Given the description of an element on the screen output the (x, y) to click on. 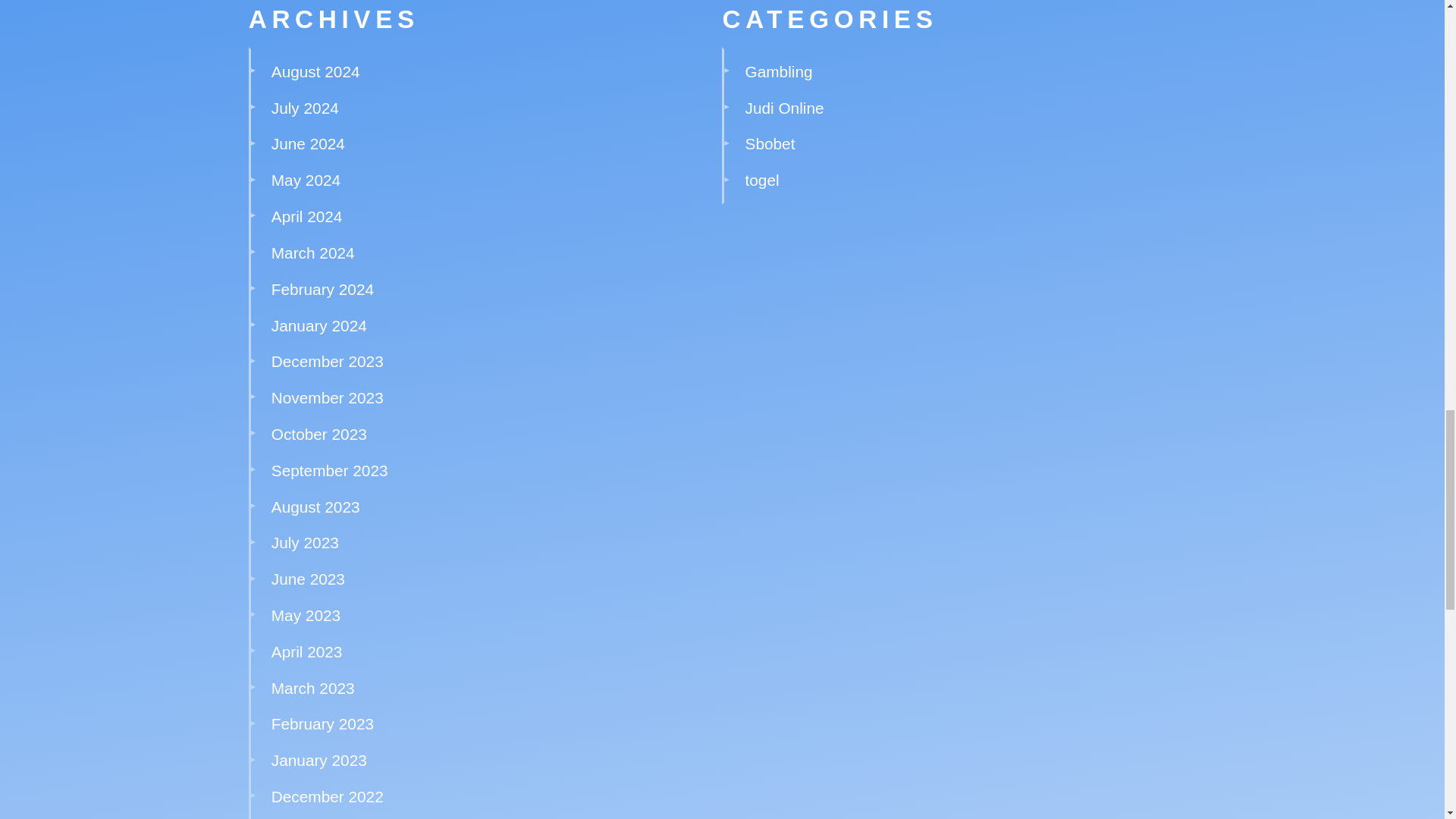
July 2024 (304, 108)
May 2023 (305, 615)
April 2024 (306, 216)
August 2023 (314, 506)
June 2023 (307, 579)
December 2023 (327, 361)
December 2022 (327, 796)
May 2024 (305, 180)
November 2023 (327, 397)
February 2024 (322, 289)
